Given the description of an element on the screen output the (x, y) to click on. 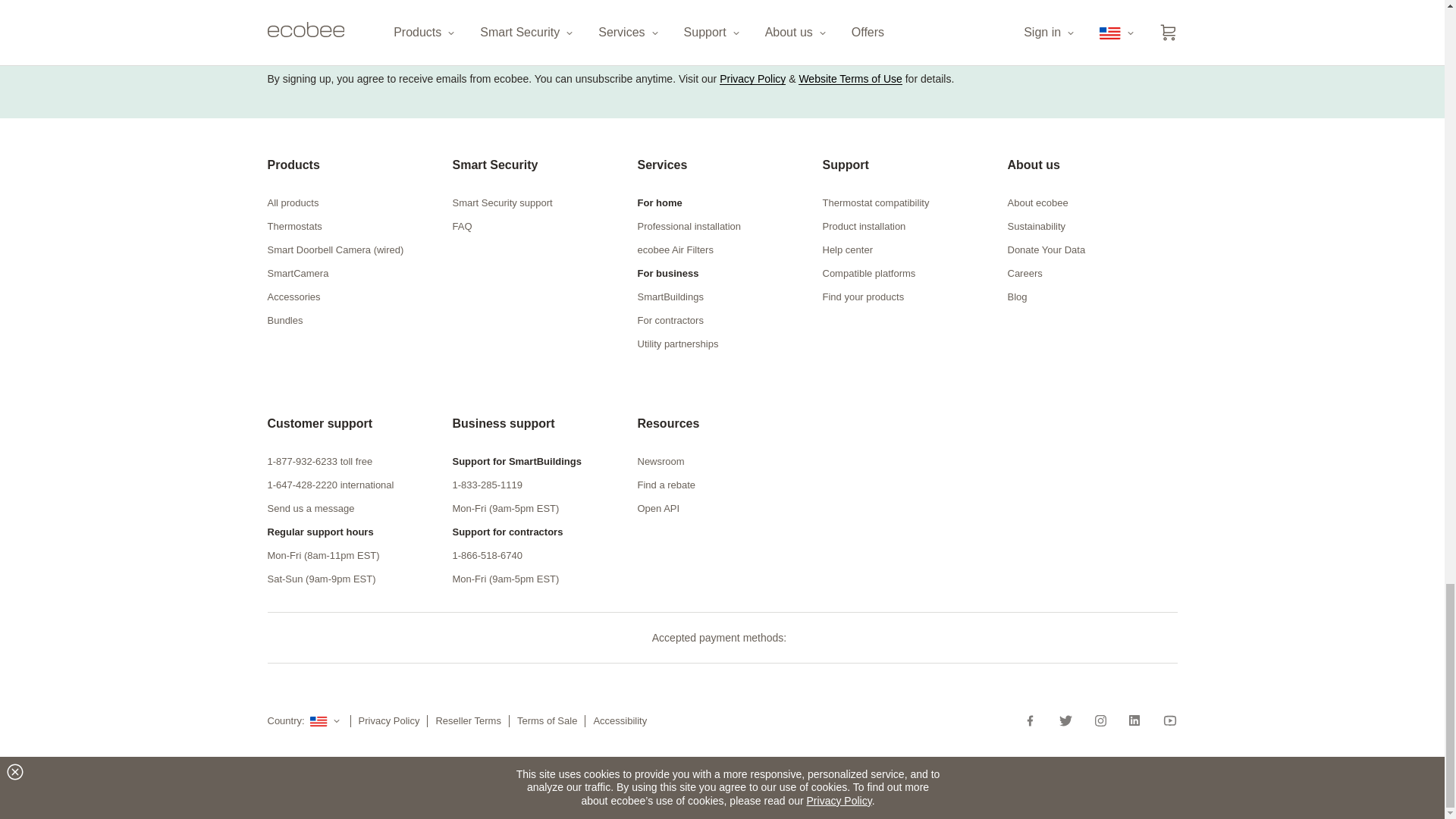
Twitter (1065, 719)
Facebook (1035, 719)
LinkedIn (1134, 719)
YouTube (1164, 719)
Instagram (1099, 719)
